Given the description of an element on the screen output the (x, y) to click on. 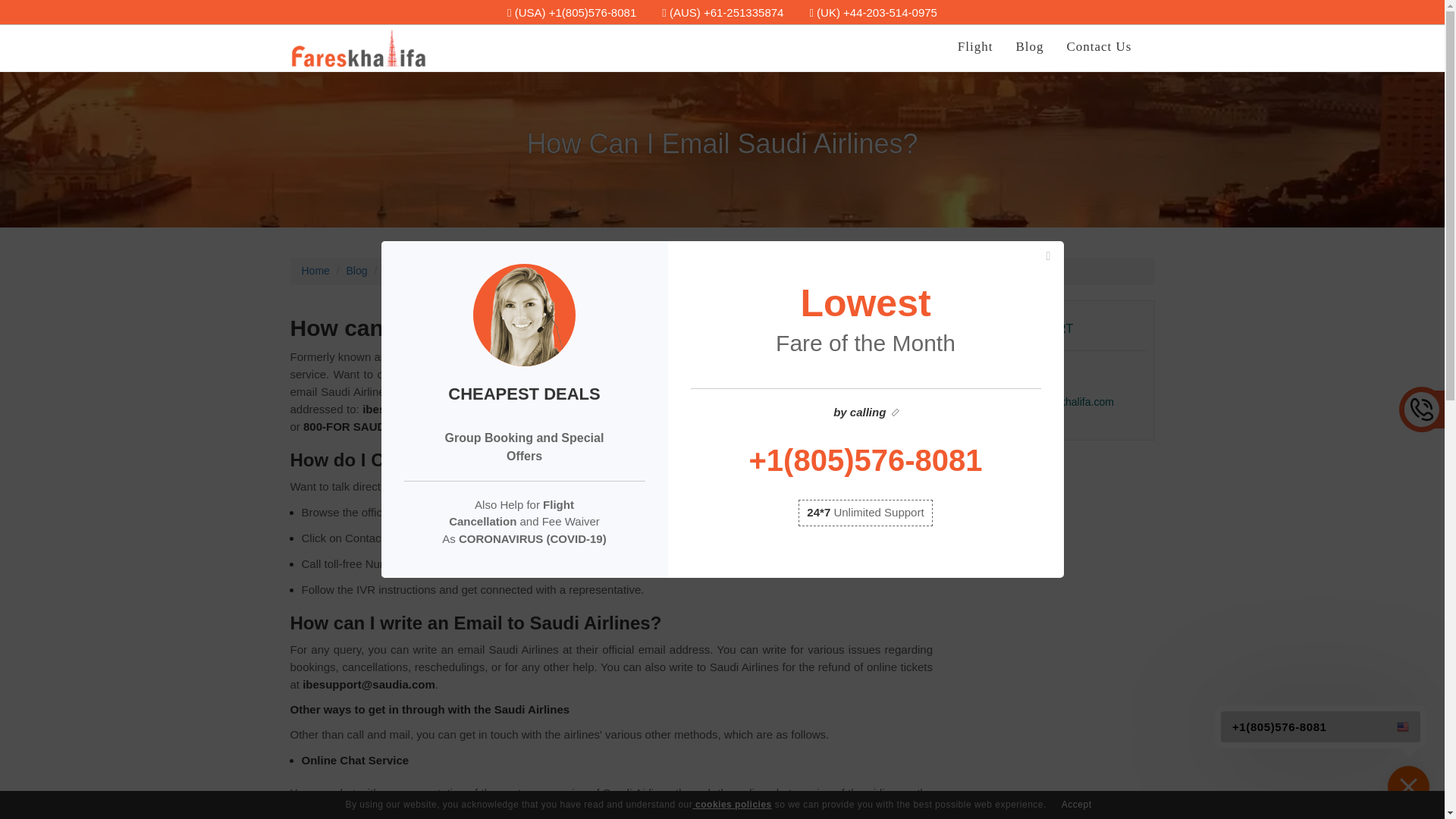
Contact Us (1098, 46)
Blog (1028, 46)
Flight (975, 46)
Blog (357, 270)
Home (315, 270)
